Given the description of an element on the screen output the (x, y) to click on. 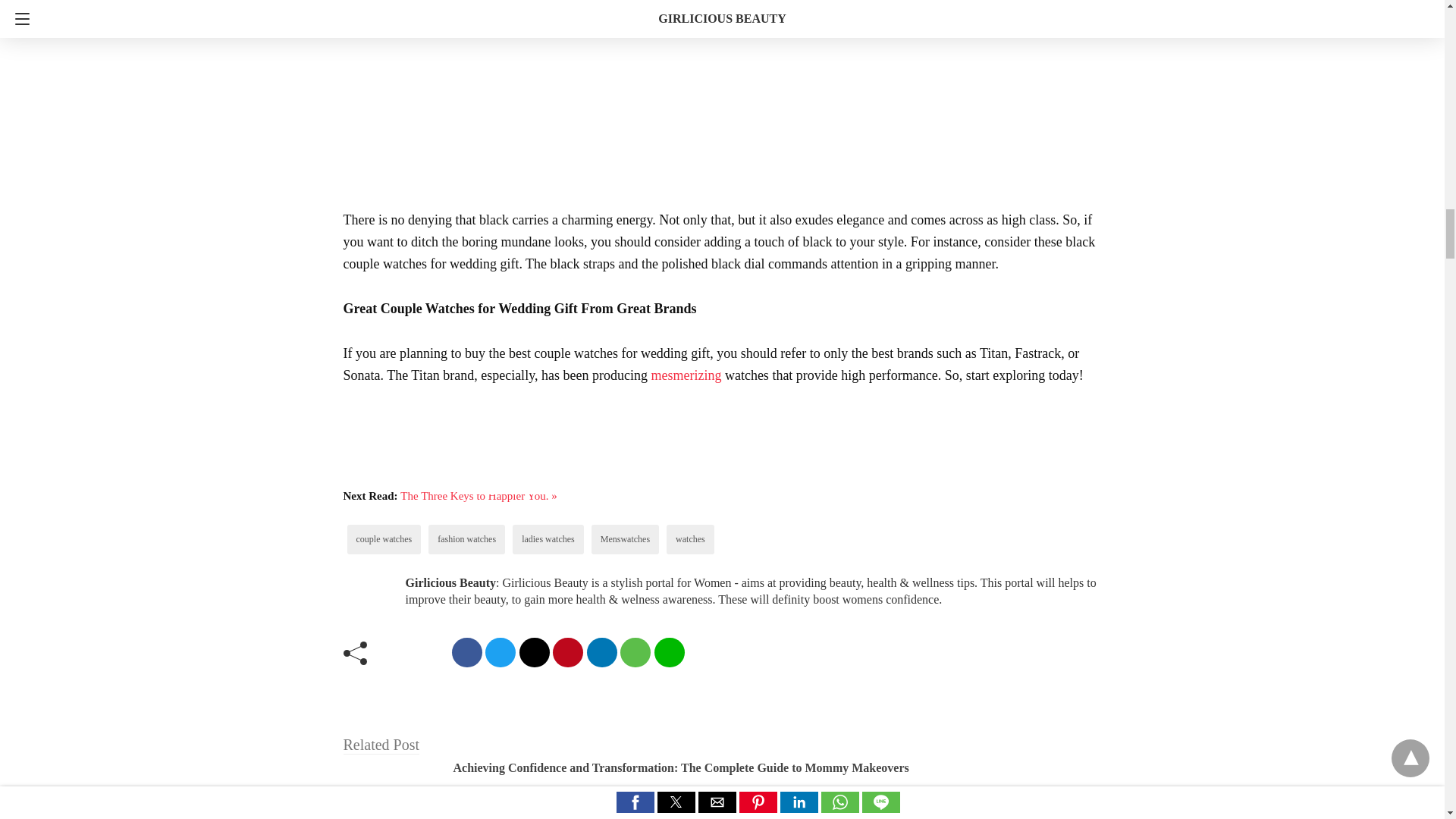
whatsapp share (635, 652)
mailto (533, 652)
watches (689, 538)
couple watches (384, 538)
mesmerizing (685, 375)
Menswatches (624, 538)
fashion watches (467, 538)
line share (668, 652)
